Given the description of an element on the screen output the (x, y) to click on. 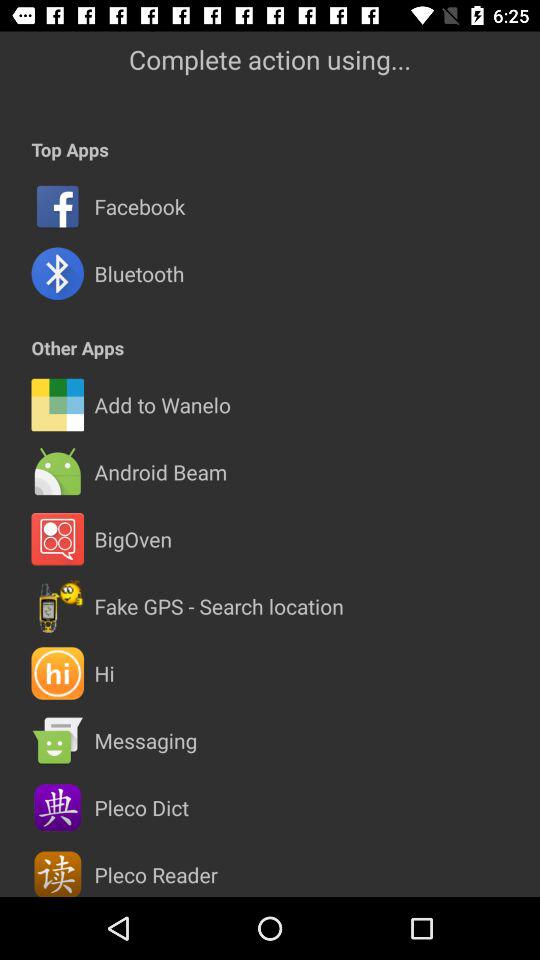
jump until the other apps (77, 347)
